Given the description of an element on the screen output the (x, y) to click on. 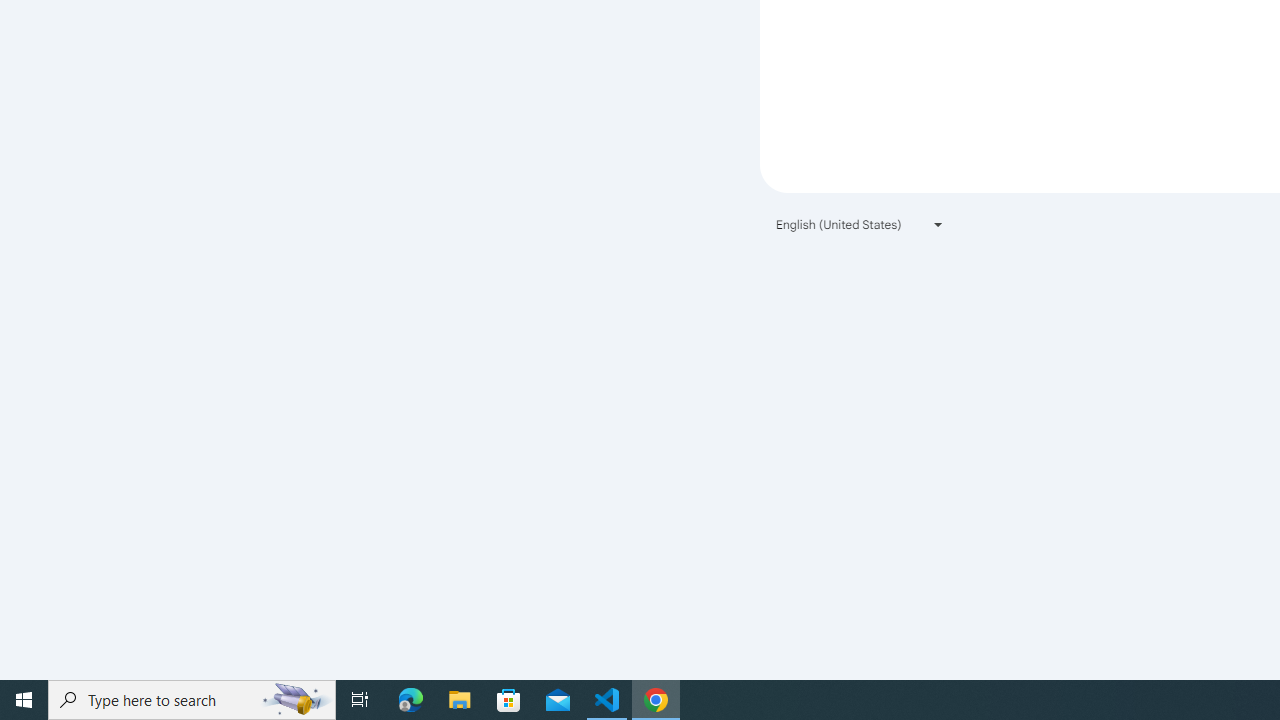
English (United States) (860, 224)
